Given the description of an element on the screen output the (x, y) to click on. 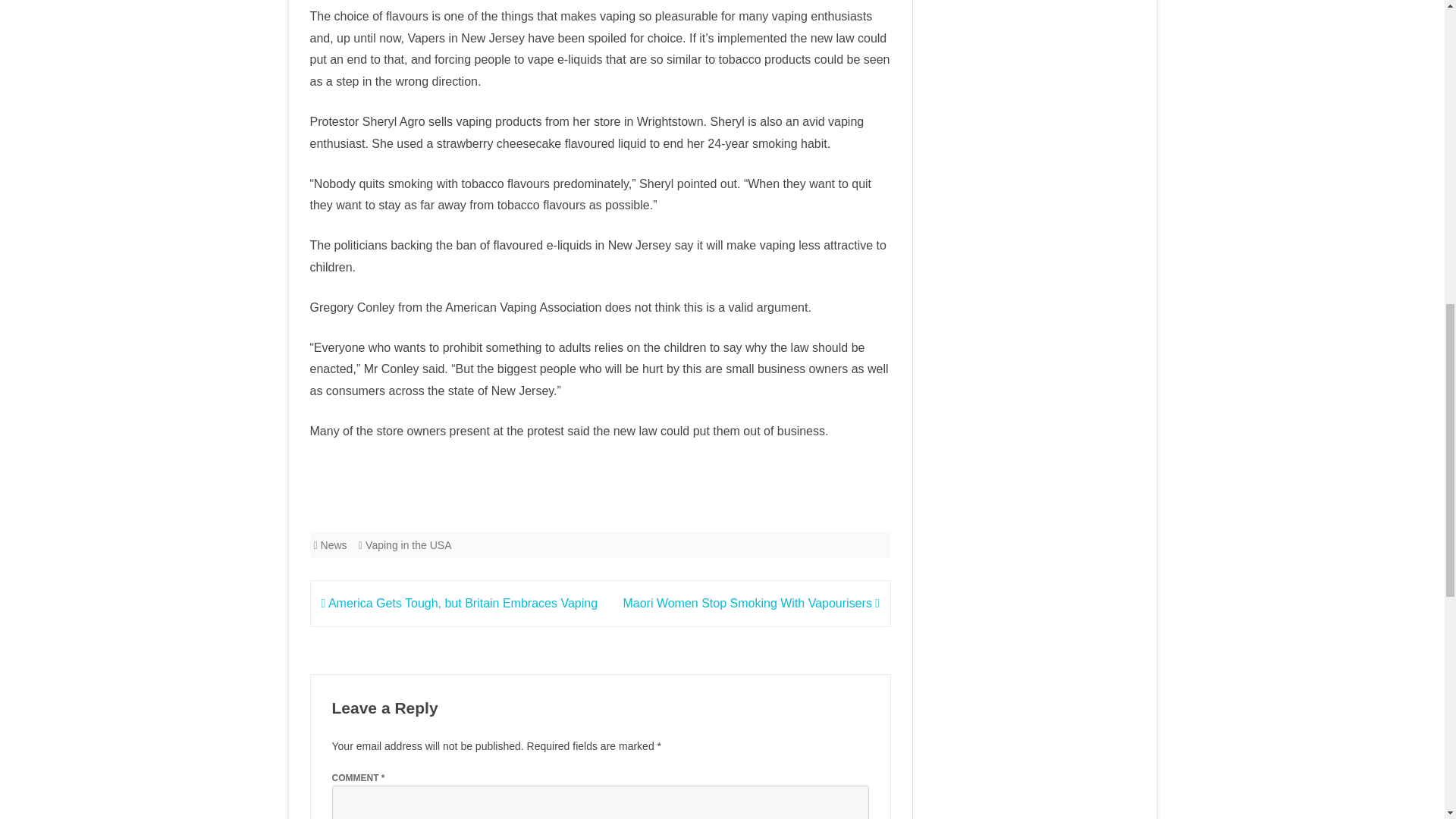
Vaping in the USA (408, 544)
News (333, 544)
Maori Women Stop Smoking With Vapourisers (751, 603)
America Gets Tough, but Britain Embraces Vaping (459, 603)
